Given the description of an element on the screen output the (x, y) to click on. 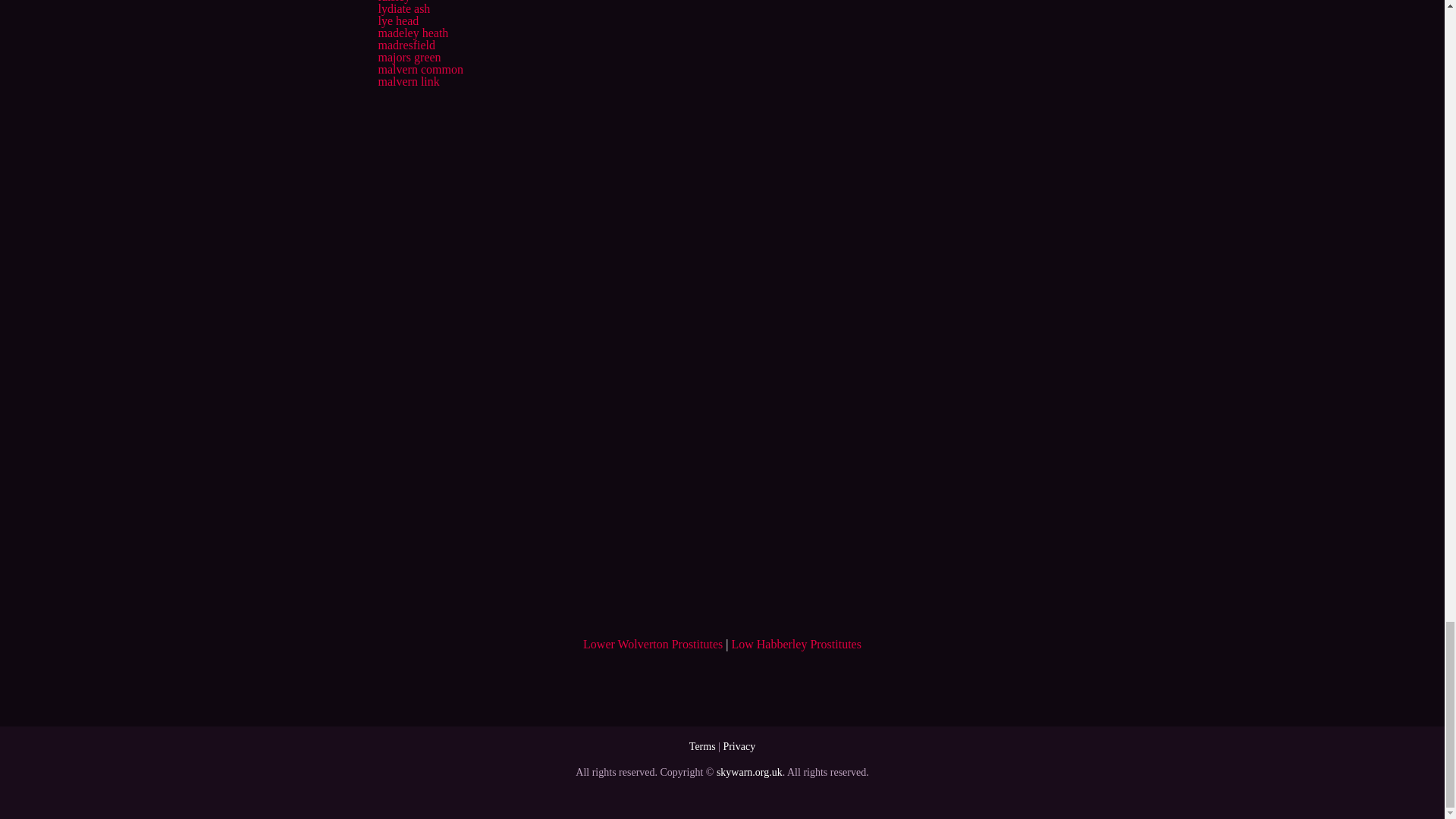
lulsley (393, 1)
majors green (409, 56)
Privacy (738, 746)
madeley heath (412, 32)
lye head (398, 20)
Privacy (738, 746)
Terms (702, 746)
Low Habberley Prostitutes (795, 644)
madresfield (406, 44)
malvern link (408, 81)
